Given the description of an element on the screen output the (x, y) to click on. 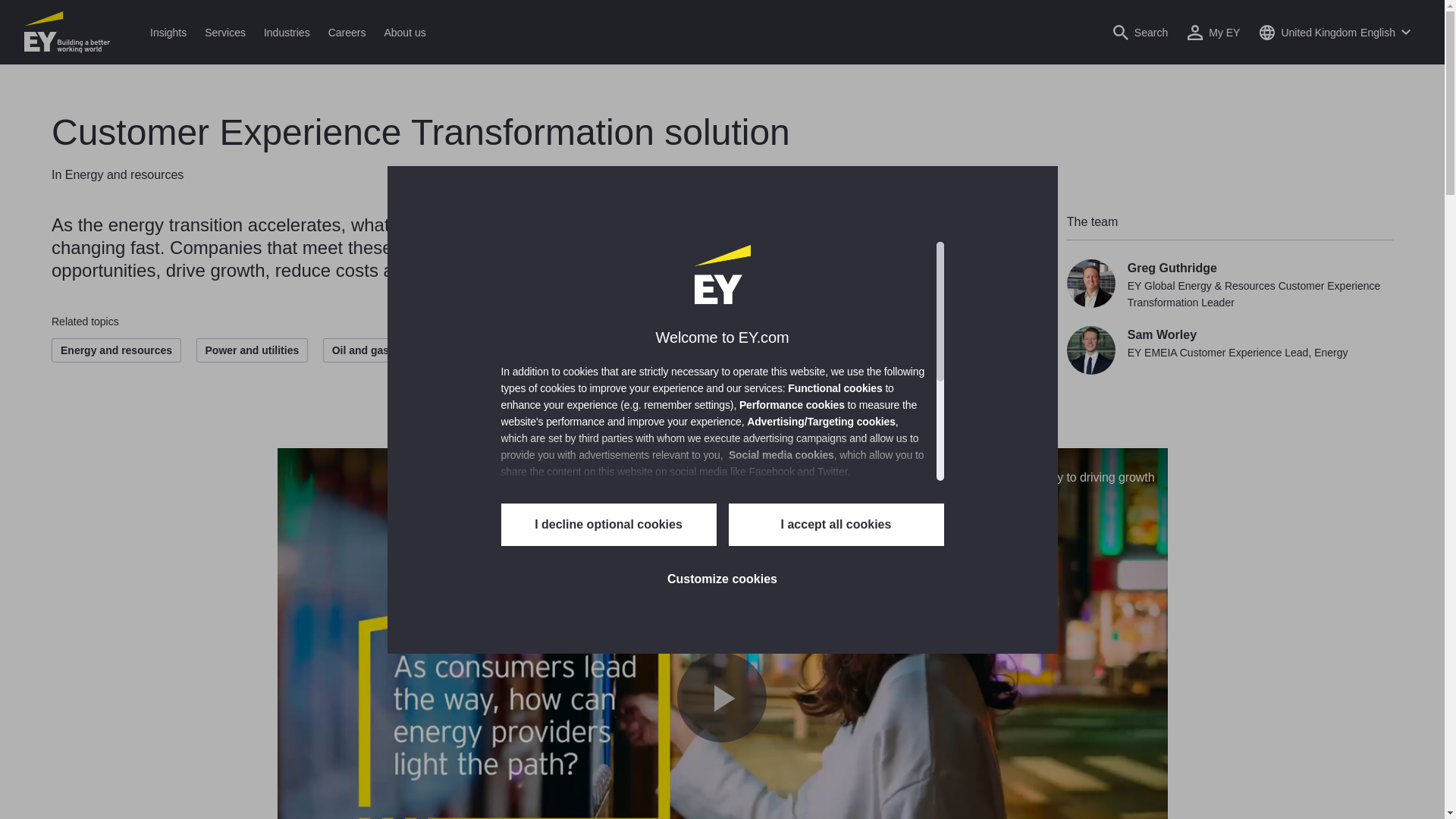
EY Homepage (67, 32)
Open country language switcher (1334, 32)
My EY (1213, 32)
Play Video (721, 697)
Open search (1140, 32)
